Given the description of an element on the screen output the (x, y) to click on. 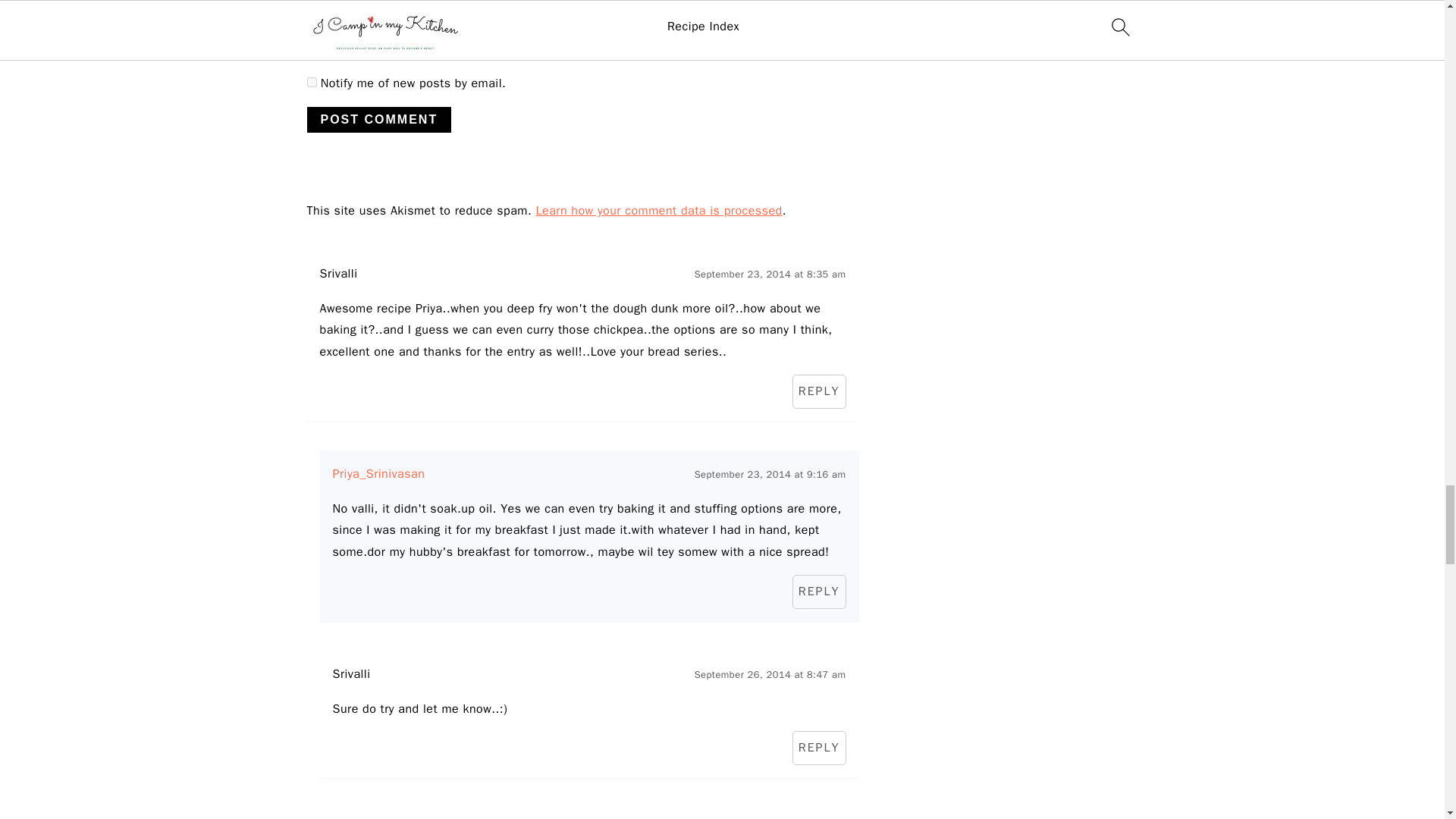
Post Comment (378, 119)
subscribe (310, 81)
subscribe (310, 48)
